Given the description of an element on the screen output the (x, y) to click on. 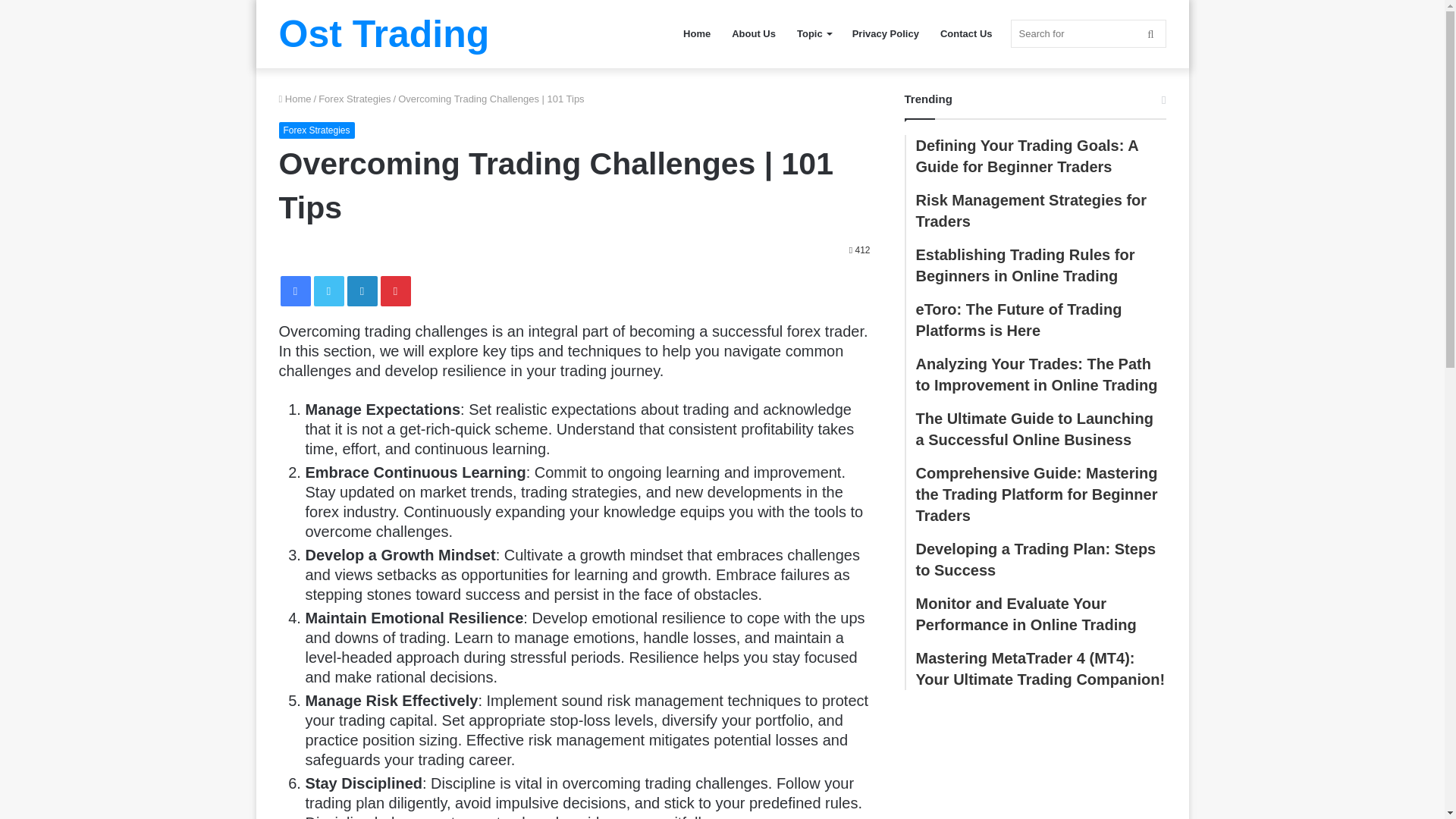
LinkedIn (362, 291)
Facebook (296, 291)
Pinterest (395, 291)
Pinterest (395, 291)
Search for (1088, 33)
Twitter (328, 291)
Ost Trading (384, 34)
Privacy Policy (885, 33)
About Us (753, 33)
Home (295, 98)
